Given the description of an element on the screen output the (x, y) to click on. 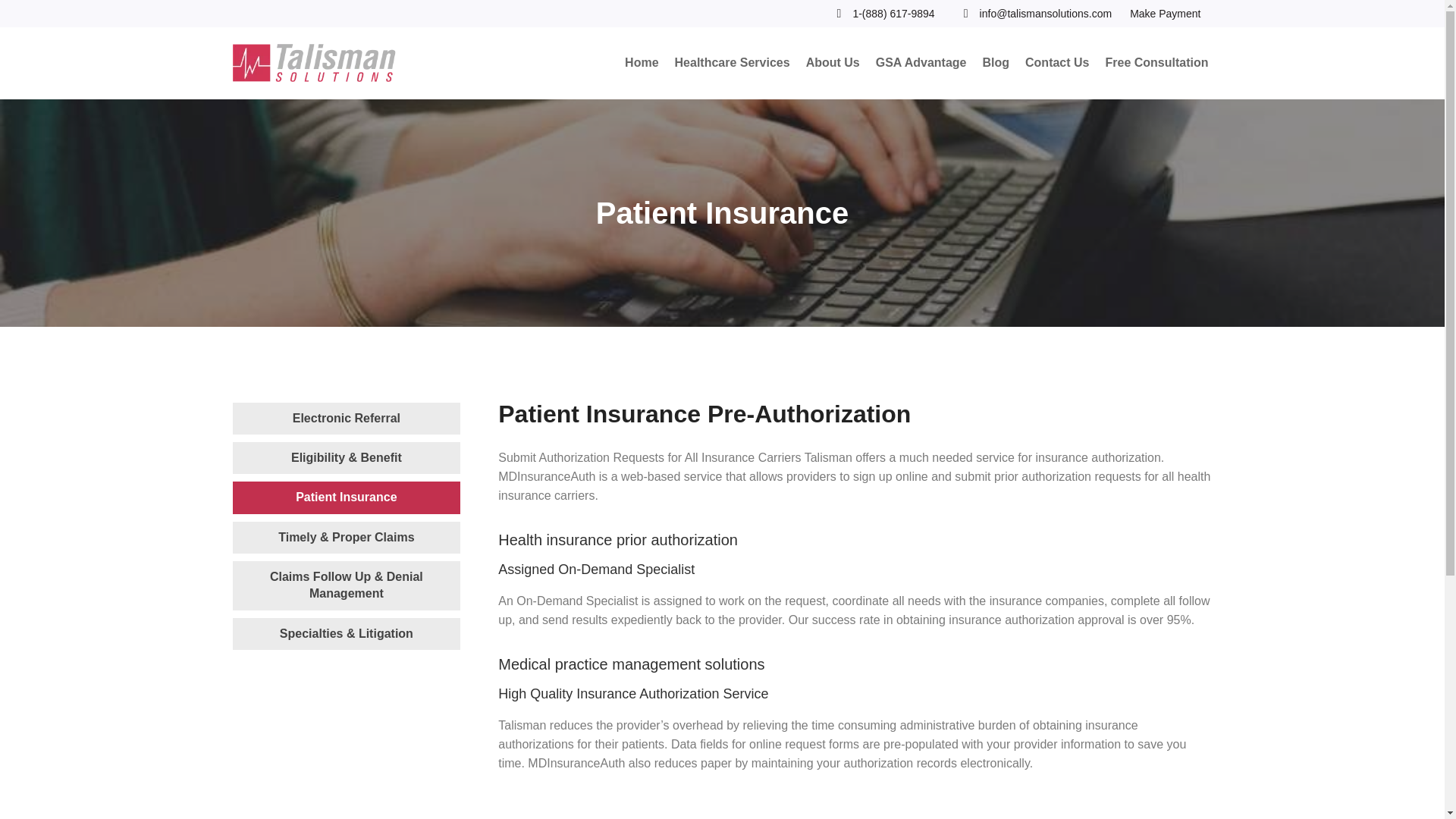
Free Consultation (1155, 63)
Contact Us (1057, 63)
GSA Advantage (921, 63)
Patient Insurance (345, 497)
Blog (995, 63)
Make Payment (1164, 13)
About Us (832, 63)
Healthcare Services (732, 63)
Electronic Referral (345, 418)
Home (641, 63)
